Given the description of an element on the screen output the (x, y) to click on. 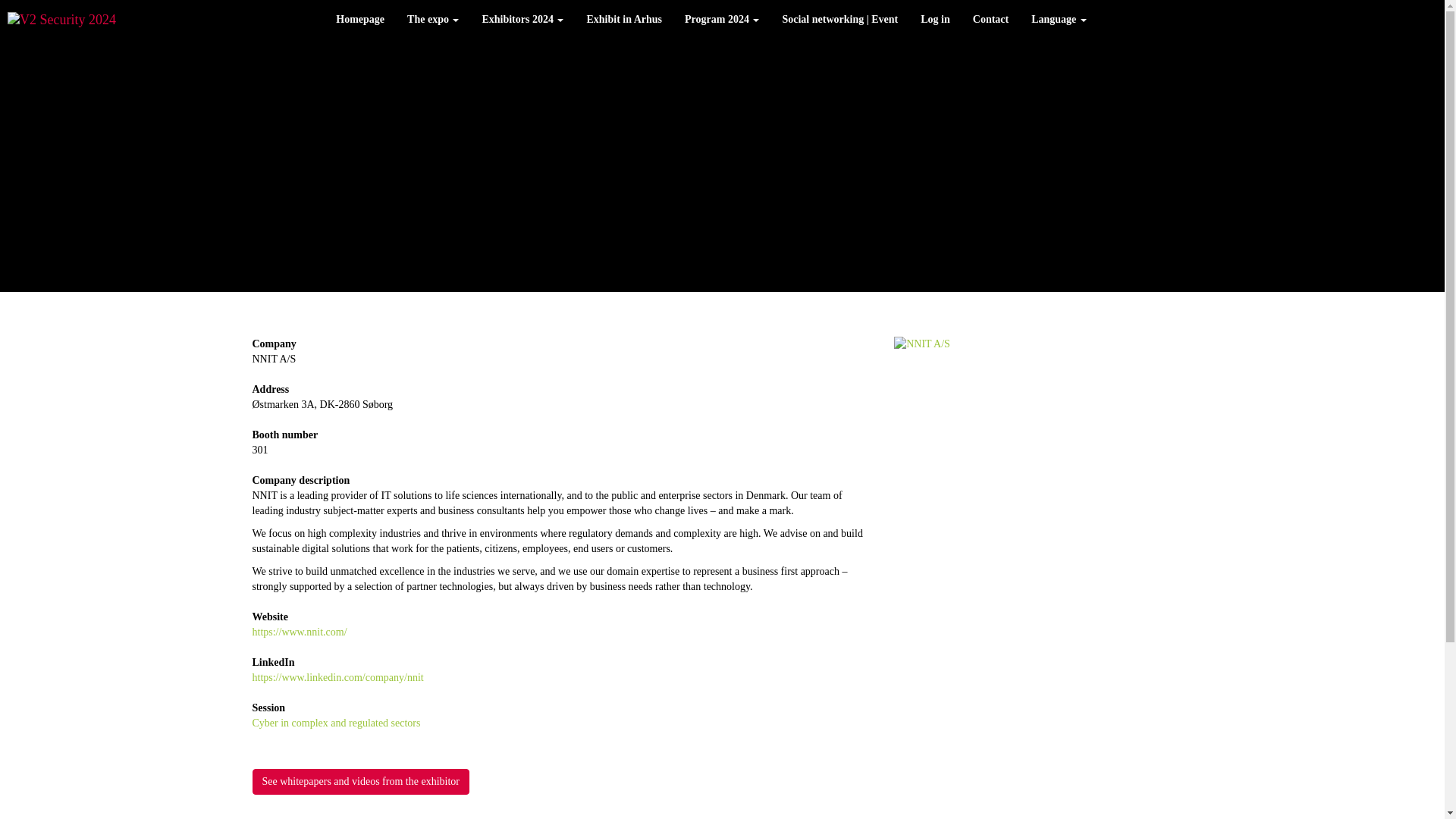
Log in (934, 19)
Homepage (360, 19)
Program 2024 (721, 19)
Exhibitors 2024 (522, 19)
Contact (990, 19)
Exhibit in Arhus (623, 19)
See content (359, 781)
The expo (433, 19)
Language (1058, 19)
